Given the description of an element on the screen output the (x, y) to click on. 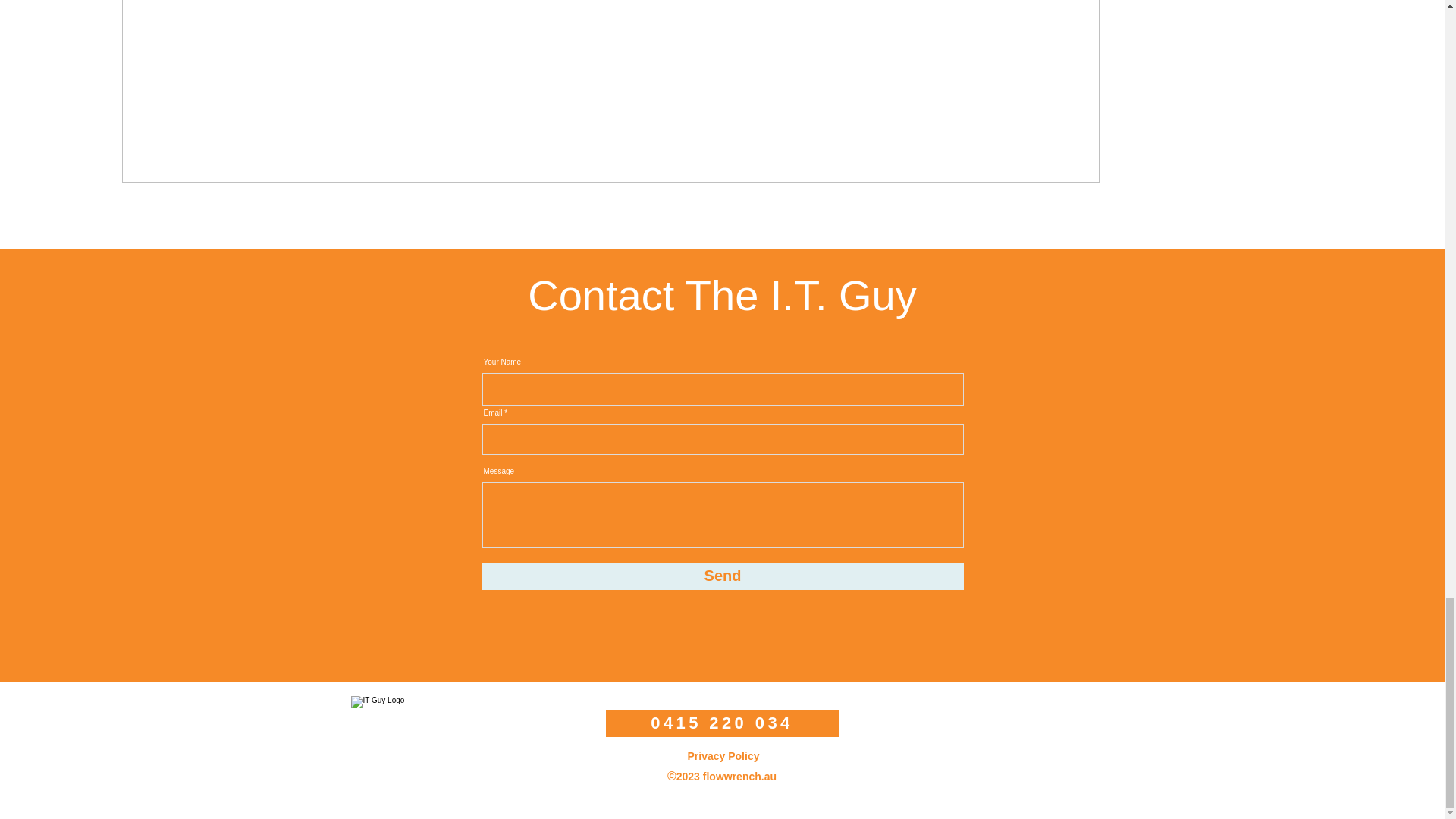
Send (722, 575)
Privacy Policy (723, 756)
0415 220 034 (721, 723)
